Given the description of an element on the screen output the (x, y) to click on. 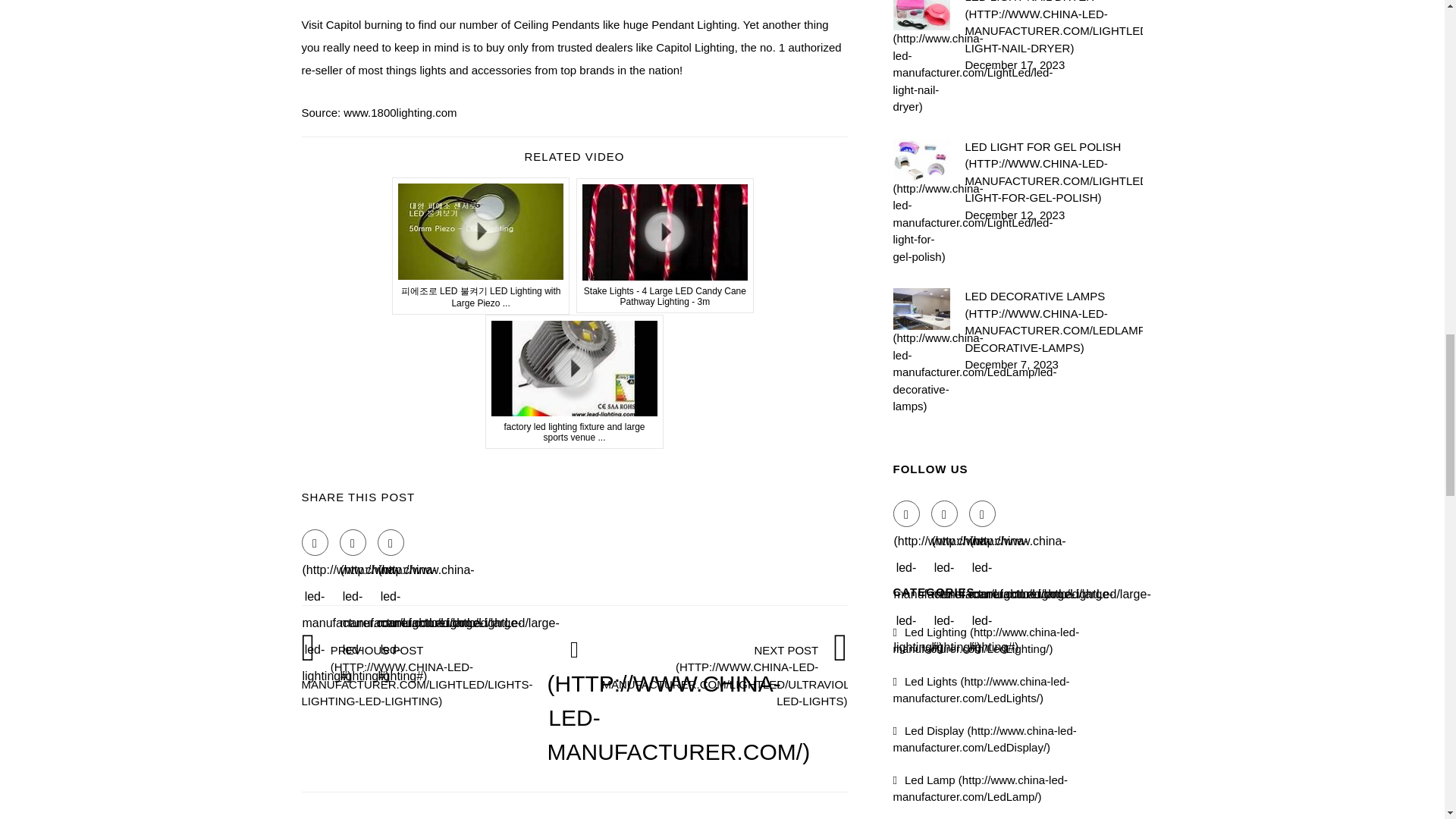
Google Plus (982, 513)
View all posts filed under Led Display (985, 738)
View this video from YouTube (573, 381)
View all posts filed under Led Lights (981, 689)
View all posts filed under Led Lighting (986, 639)
Twitter (352, 542)
Facebook (315, 542)
Twitter (944, 513)
Facebook (906, 513)
Google Plus (390, 542)
NEXT POST (734, 675)
View this video from YouTube (480, 245)
PREVIOUS POST (424, 675)
View this video from YouTube (665, 245)
View all posts filed under Led Lamp (980, 788)
